Given the description of an element on the screen output the (x, y) to click on. 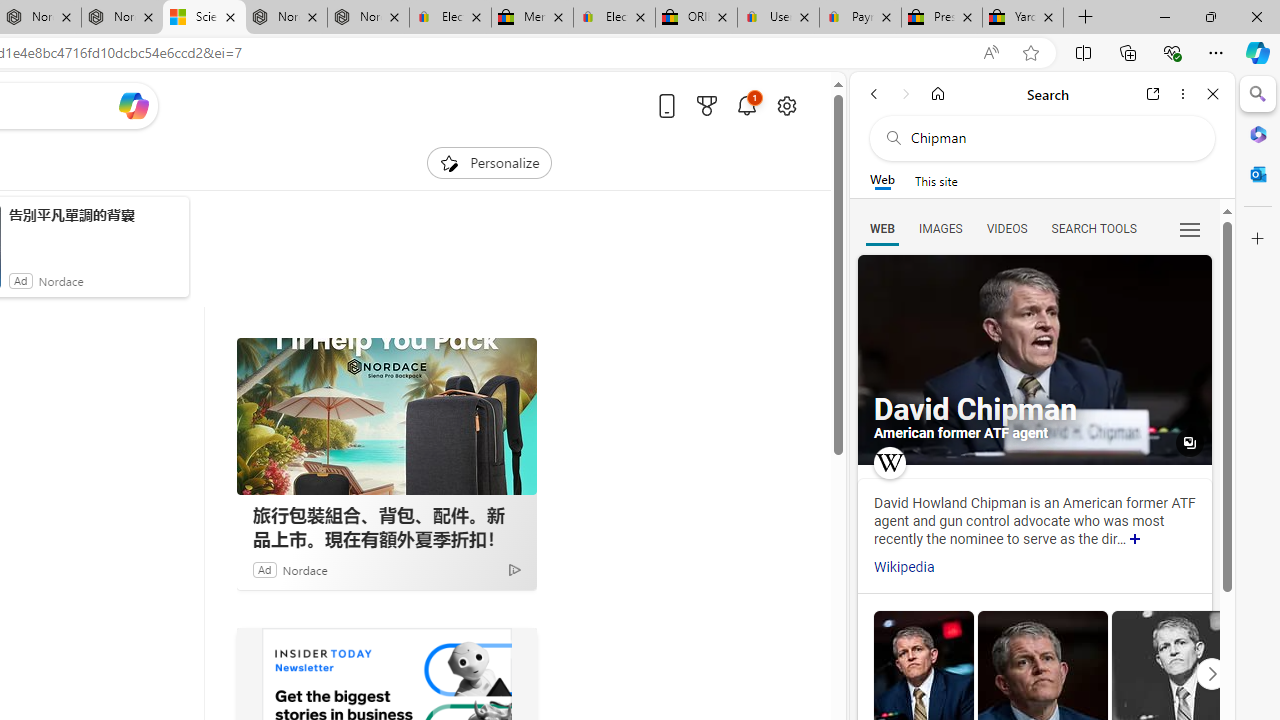
Click to scroll right (1211, 672)
All images (1034, 359)
